Given the description of an element on the screen output the (x, y) to click on. 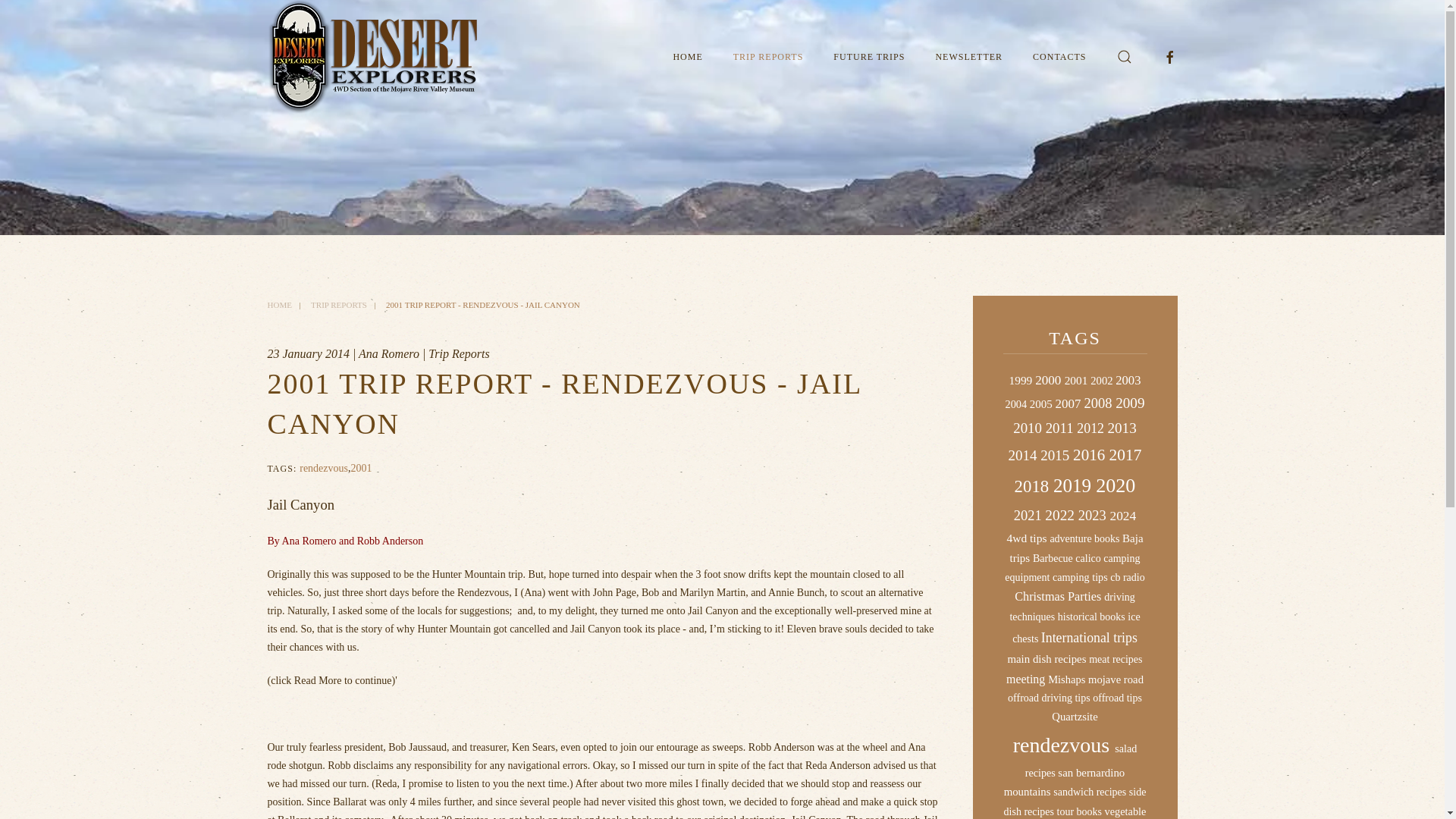
TRIP REPORTS (768, 56)
